Given the description of an element on the screen output the (x, y) to click on. 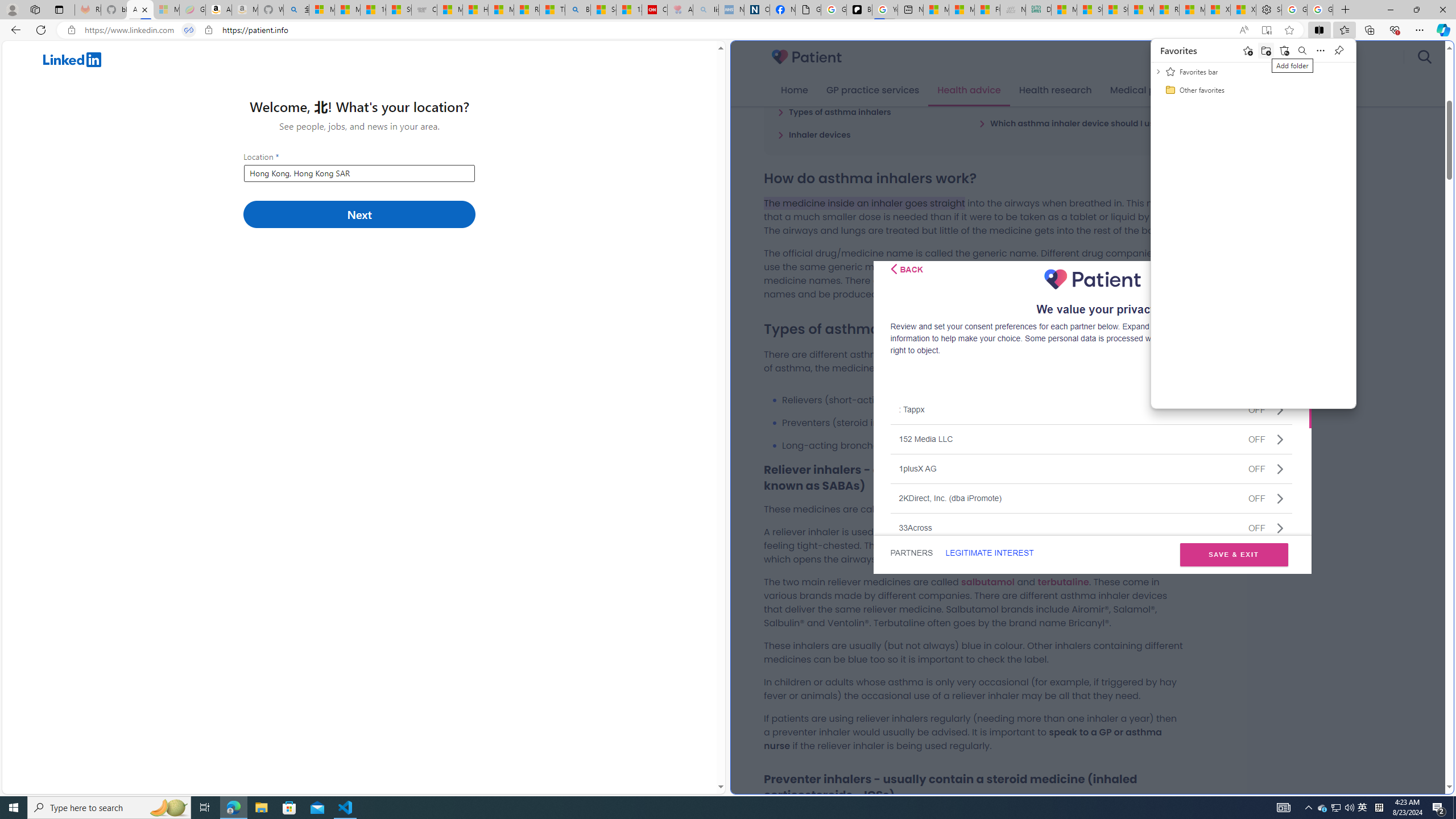
Restore deleted favorites (1284, 49)
Pin favorites (1338, 49)
FOX News - MSN (986, 9)
salbutamol (987, 581)
